Given the description of an element on the screen output the (x, y) to click on. 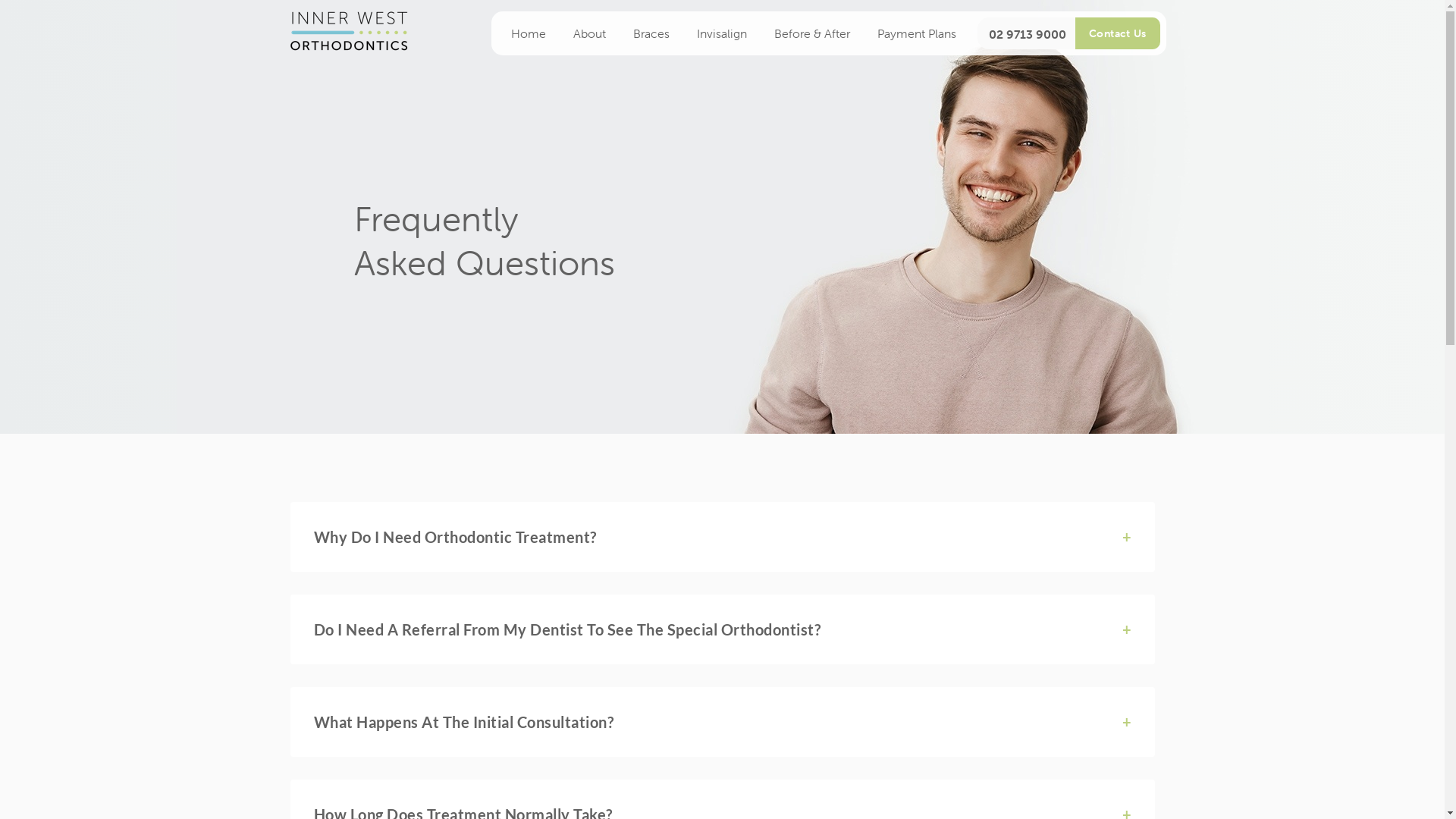
What Happens At The Initial Consultation? Element type: text (721, 721)
Home Element type: text (528, 33)
Contact Us Element type: text (1117, 33)
Invisalign Element type: text (720, 33)
About Element type: text (589, 33)
Braces Element type: text (650, 33)
Why Do I Need Orthodontic Treatment? Element type: text (721, 536)
02 9713 9000 Element type: text (1023, 33)
Before & After Element type: text (810, 33)
Payment Plans Element type: text (915, 33)
